Given the description of an element on the screen output the (x, y) to click on. 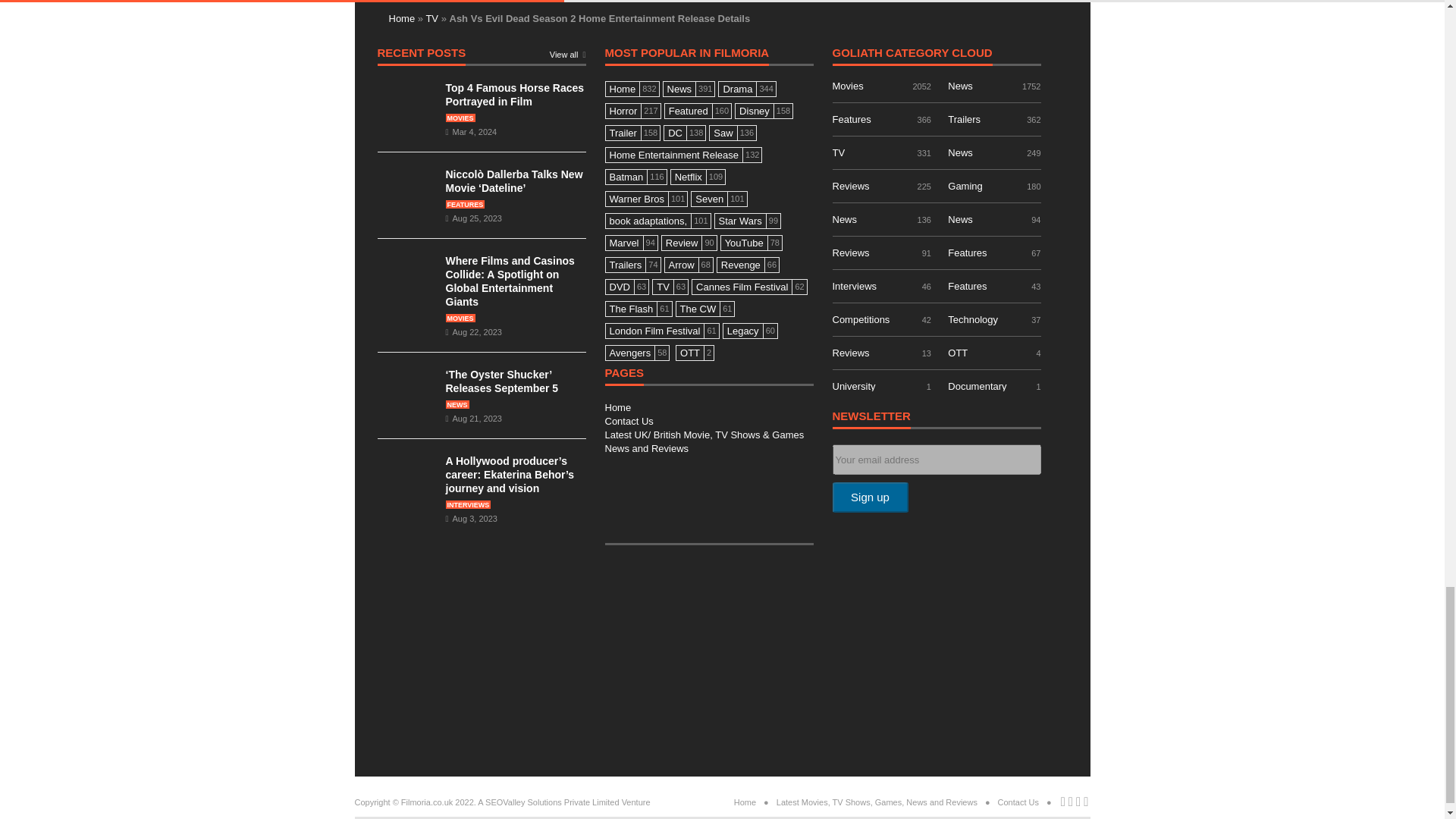
Sign up (870, 497)
